Given the description of an element on the screen output the (x, y) to click on. 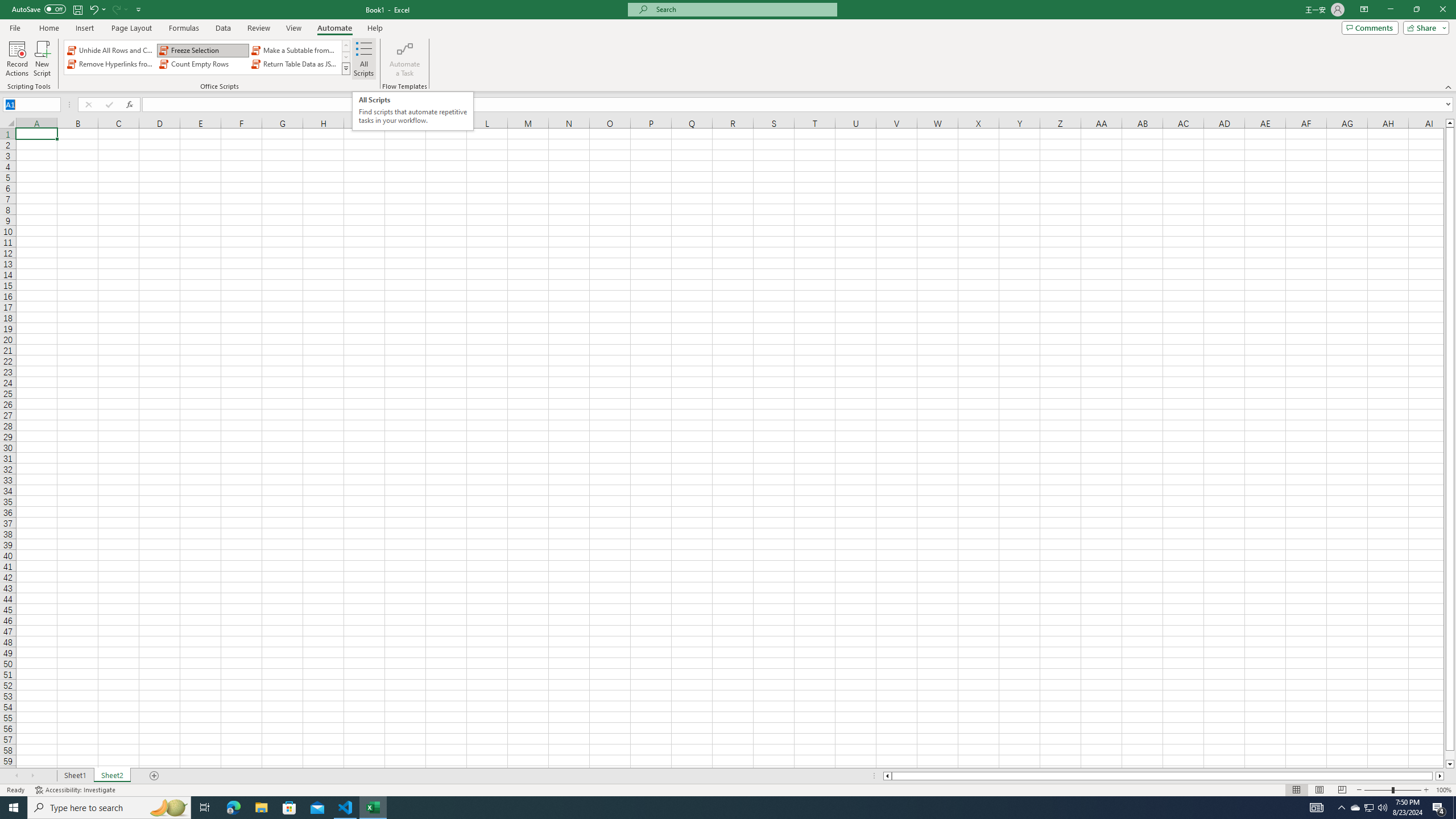
Record Actions (17, 58)
Make a Subtable from a Selection (294, 50)
Help (374, 28)
Page right (1433, 775)
Insert (83, 28)
Restore Down (1416, 9)
Comments (1369, 27)
Zoom Out (1377, 790)
Row up (346, 45)
AutoSave (38, 9)
Data (223, 28)
Share (1423, 27)
Redo (119, 9)
Scroll Left (16, 775)
Zoom (1392, 790)
